Given the description of an element on the screen output the (x, y) to click on. 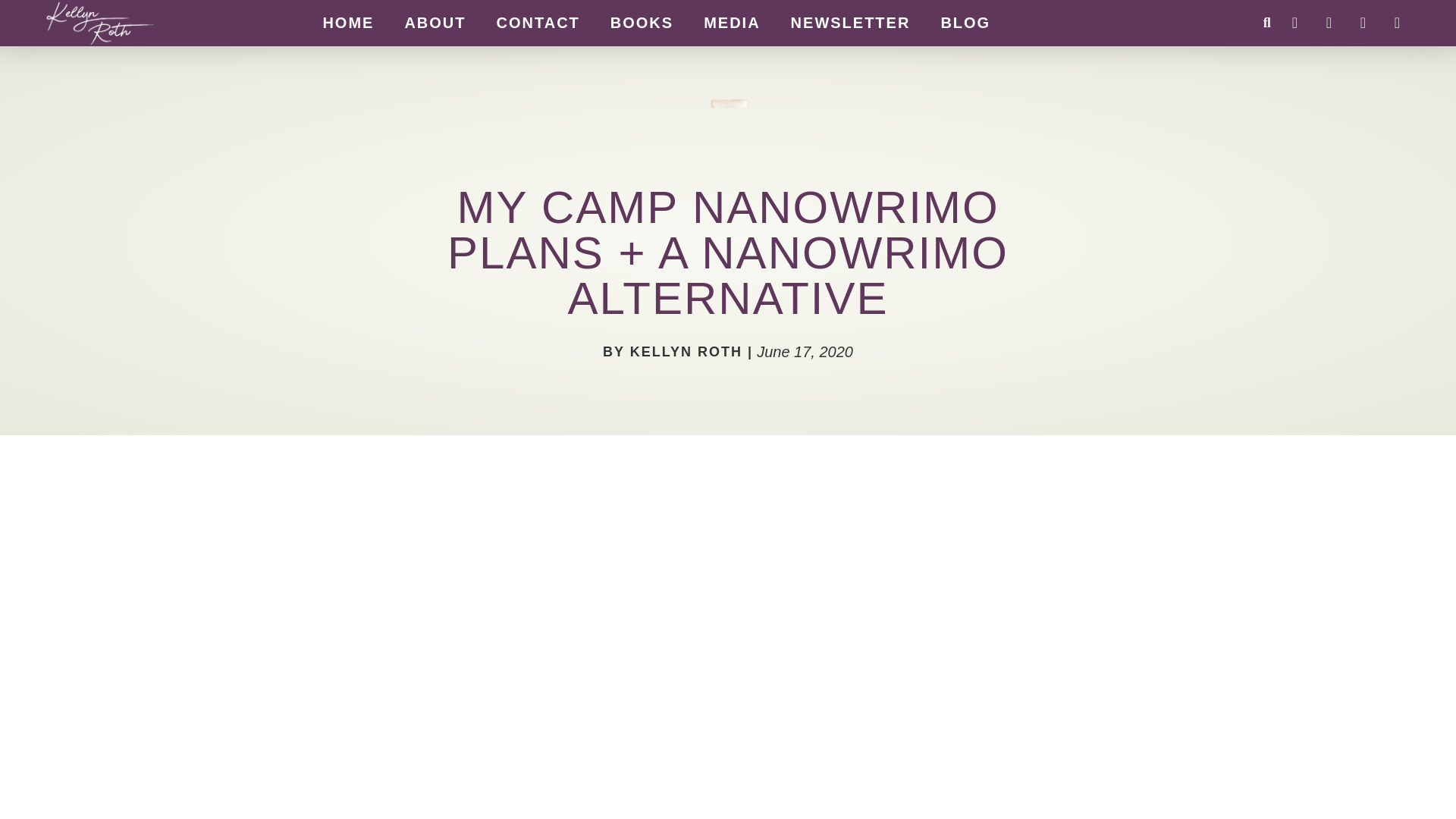
MEDIA (731, 22)
BOOKS (641, 22)
NEWSLETTER (850, 22)
CONTACT (537, 22)
BLOG (965, 22)
ABOUT (434, 22)
HOME (347, 22)
